Given the description of an element on the screen output the (x, y) to click on. 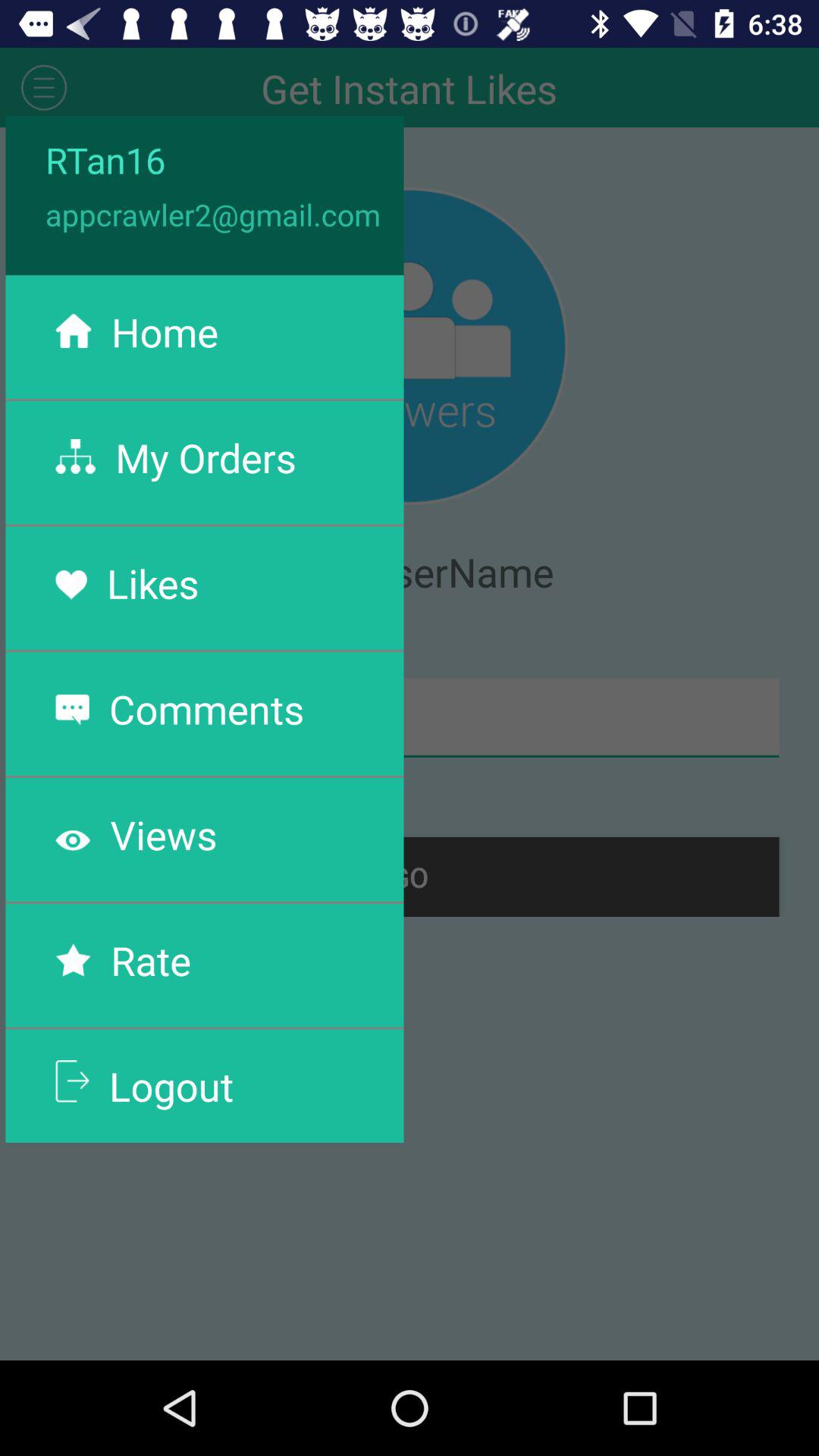
scroll until the my orders icon (205, 457)
